Given the description of an element on the screen output the (x, y) to click on. 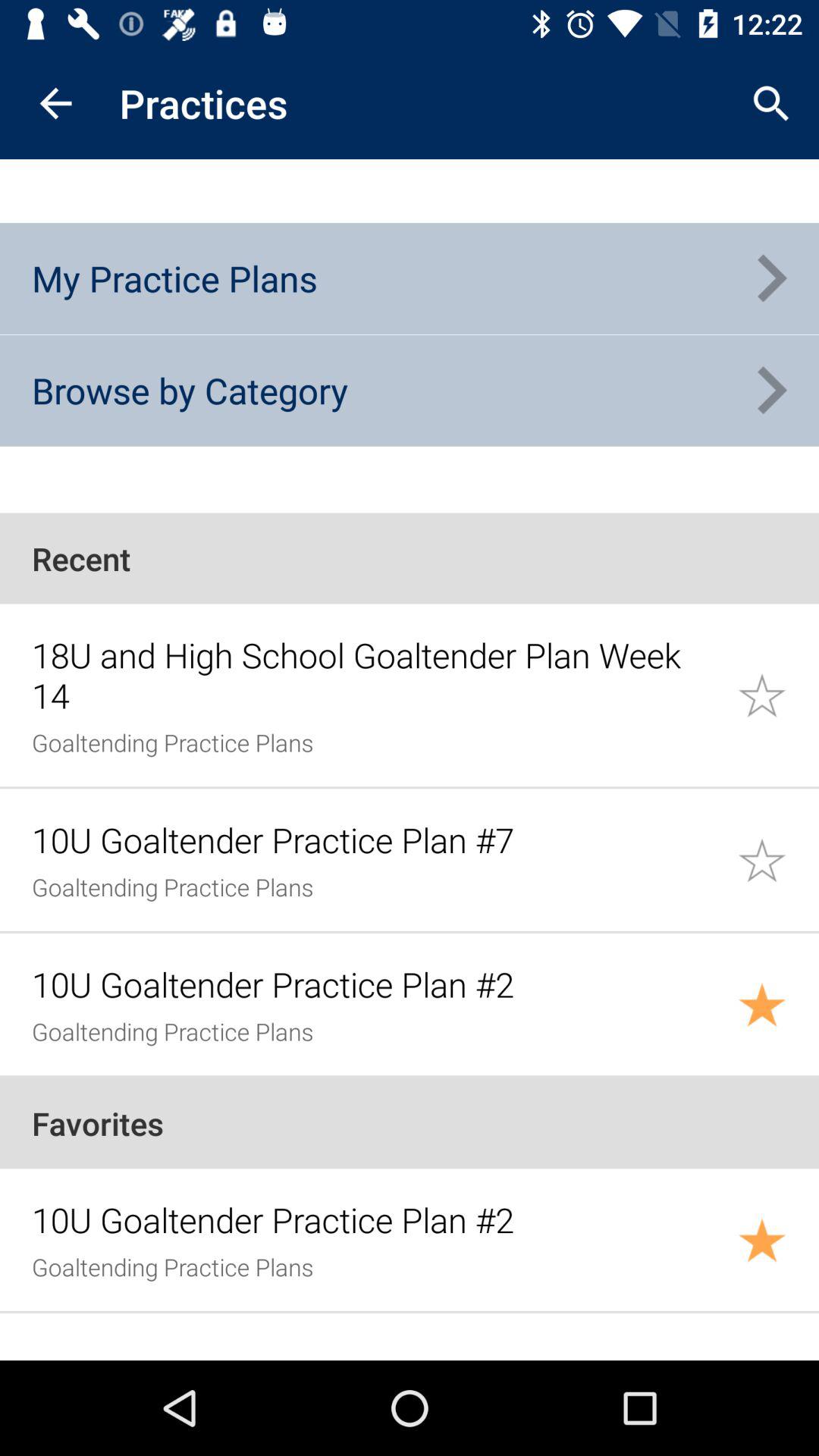
flip to the 18u and high icon (376, 674)
